Given the description of an element on the screen output the (x, y) to click on. 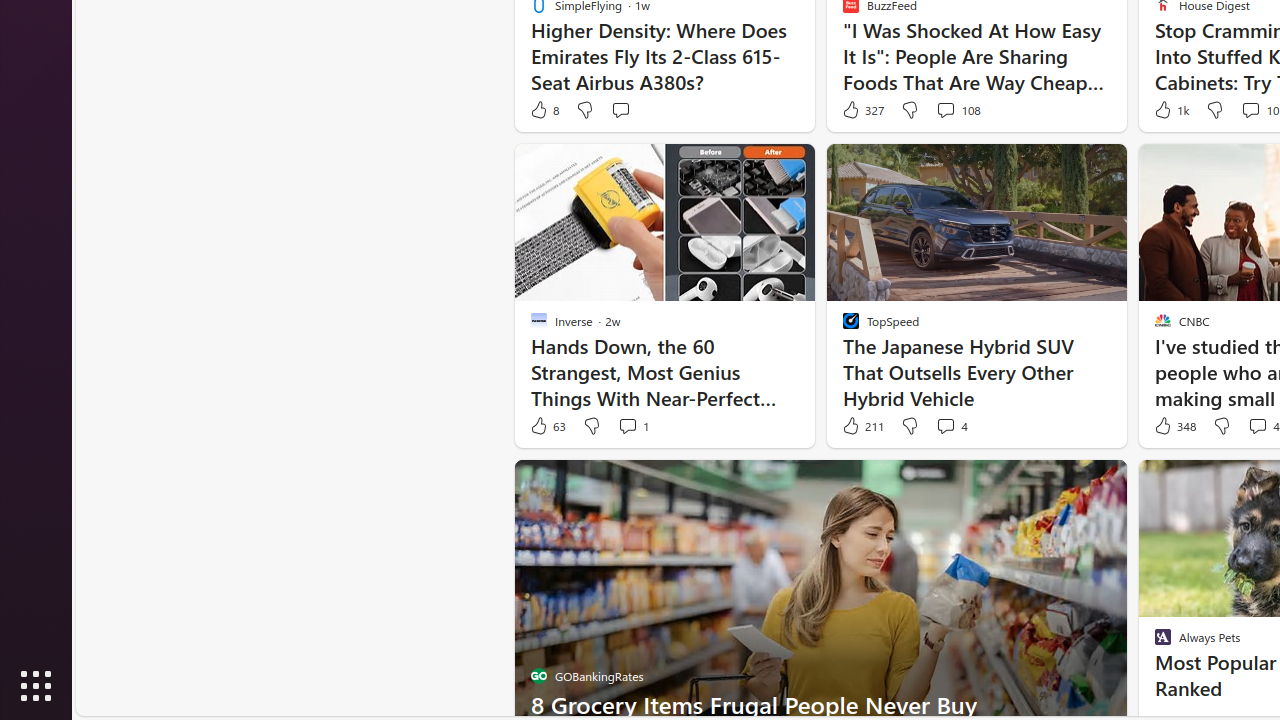
View comments 108 Comment Element type: push-button (945, 110)
View comments 4 Comment Element type: push-button (945, 425)
